Given the description of an element on the screen output the (x, y) to click on. 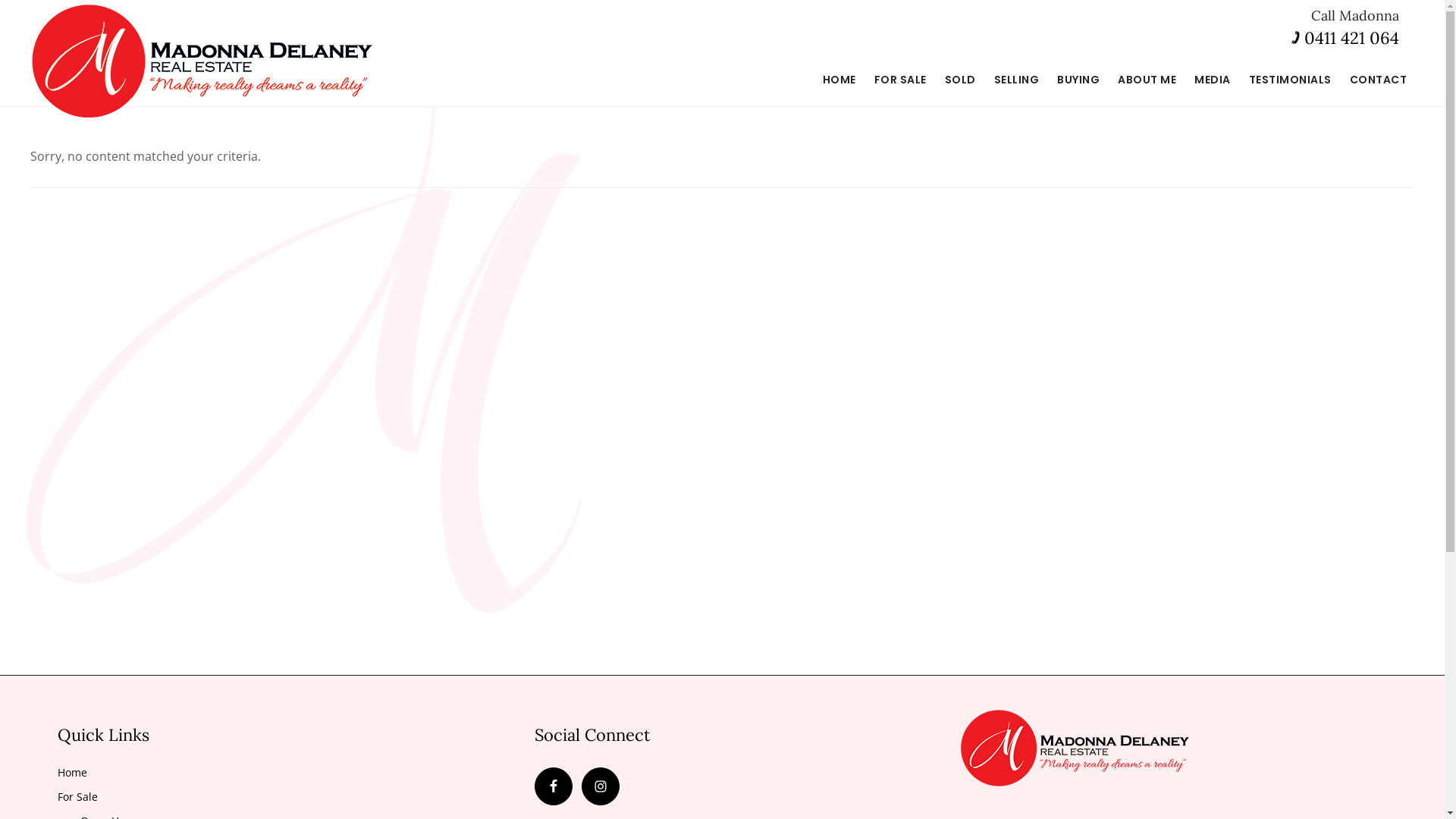
HOME Element type: text (838, 79)
TESTIMONIALS Element type: text (1289, 79)
MADONNA DELANEY REAL ESTATE Element type: text (201, 60)
SOLD Element type: text (960, 79)
Skip to main content Element type: text (0, 0)
FOR SALE Element type: text (899, 79)
SELLING Element type: text (1015, 79)
BUYING Element type: text (1078, 79)
ABOUT ME Element type: text (1146, 79)
Home Element type: text (72, 772)
For Sale Element type: text (77, 796)
MEDIA Element type: text (1212, 79)
CONTACT Element type: text (1378, 79)
0411 421 064 Element type: text (1351, 37)
